Given the description of an element on the screen output the (x, y) to click on. 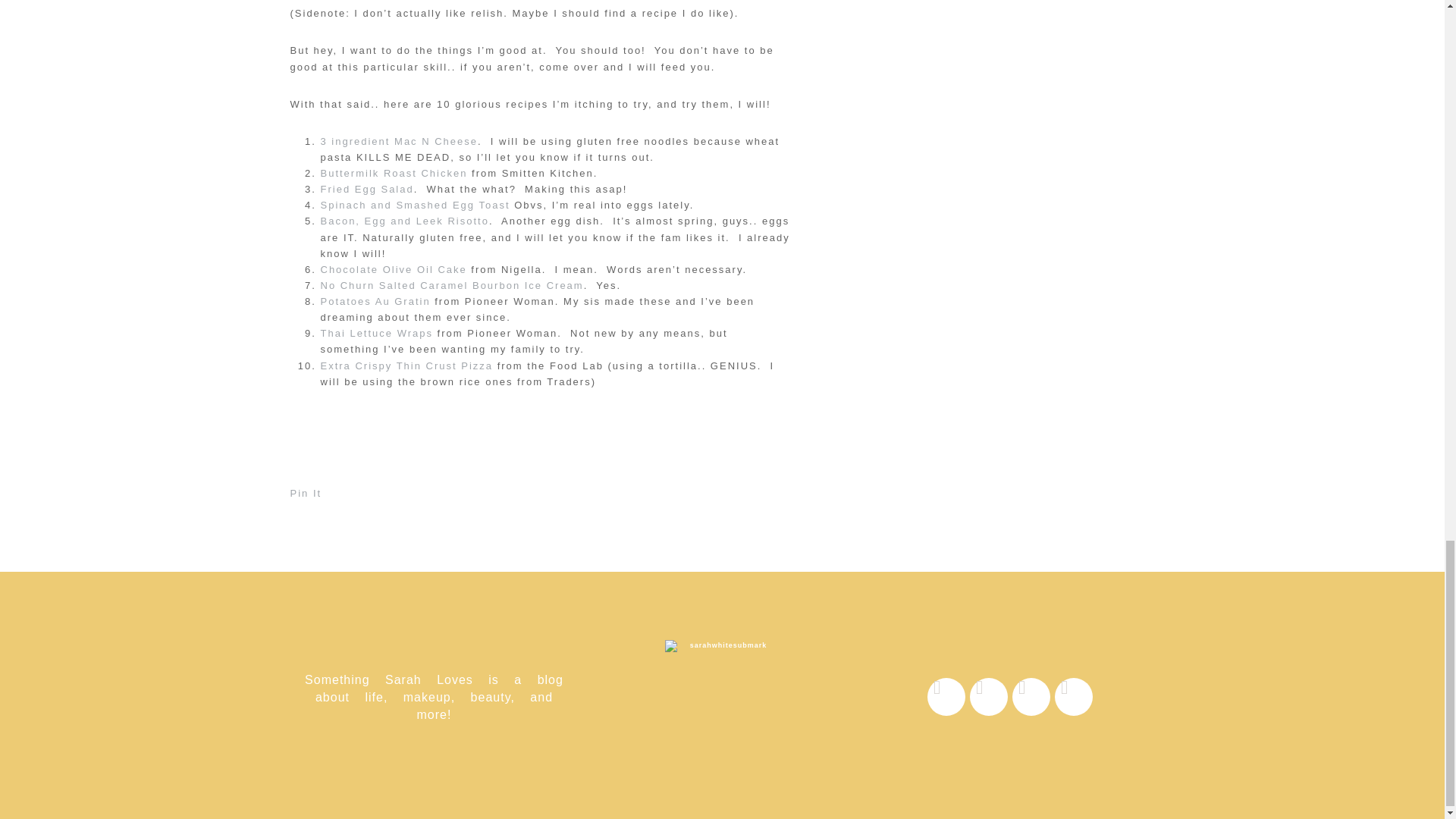
Extra Crispy Thin Crust Pizza (406, 365)
Thai Lettuce Wraps (376, 333)
Fried Egg Salad (366, 188)
Potatoes Au Gratin (374, 301)
Buttermilk Roast Chicken (393, 173)
Spinach and Smashed Egg Toast (414, 204)
Pin It (305, 492)
No Churn Salted Caramel Bourbon Ice Cream (451, 285)
Bacon, Egg and Leek Risotto (403, 220)
3 ingredient Mac N Cheese (398, 141)
